Given the description of an element on the screen output the (x, y) to click on. 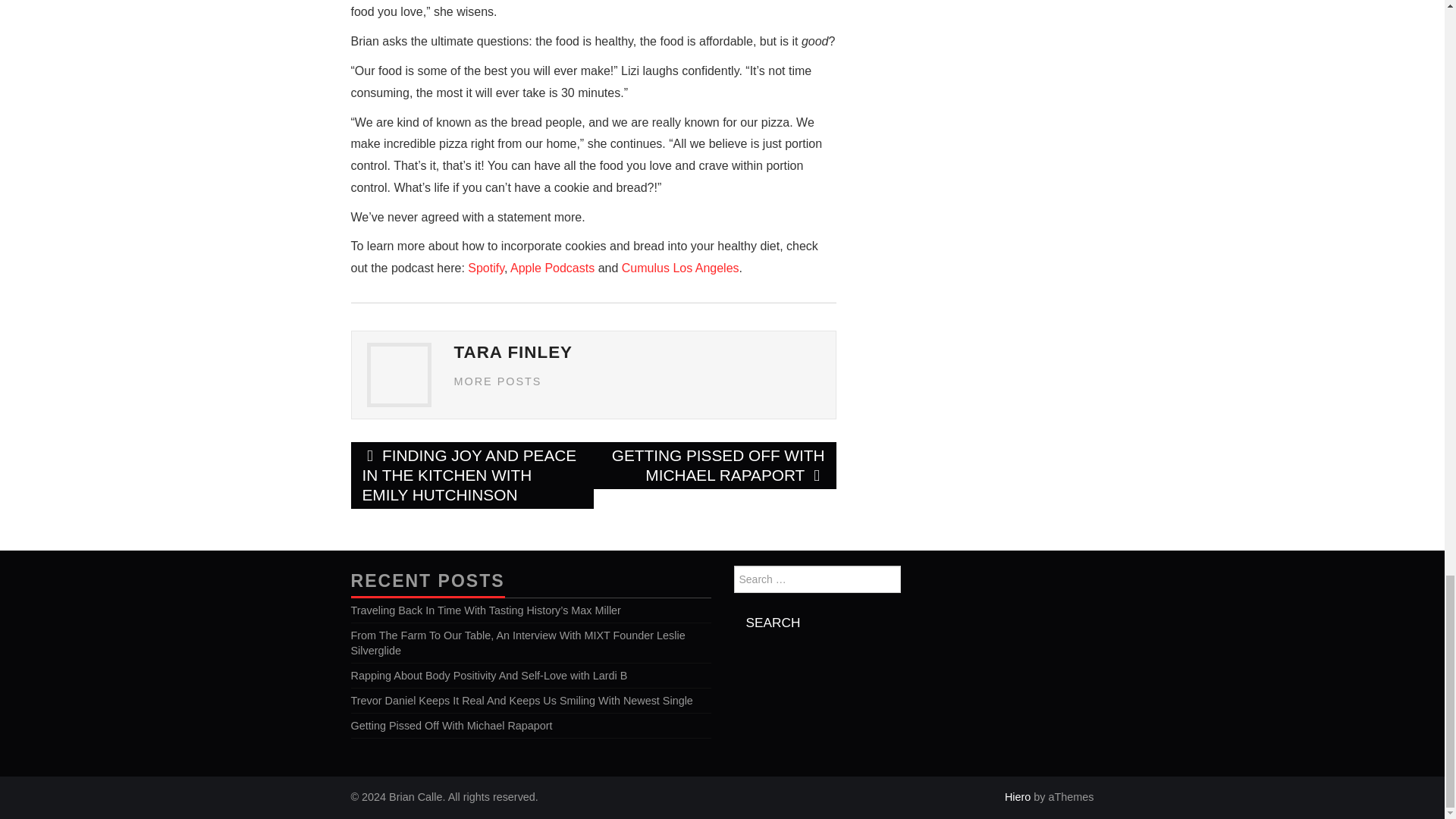
Apple Podcasts (552, 267)
Search (772, 622)
FINDING JOY AND PEACE IN THE KITCHEN WITH EMILY HUTCHINSON (471, 475)
Search for: (817, 578)
Search (772, 622)
Hiero (1017, 797)
MORE POSTS (496, 381)
Search (772, 622)
GETTING PISSED OFF WITH MICHAEL RAPAPORT (713, 465)
Getting Pissed Off With Michael Rapaport (450, 725)
Rapping About Body Positivity And Self-Love with Lardi B (488, 675)
Cumulus Los Angeles (680, 267)
Spotify (485, 267)
